Given the description of an element on the screen output the (x, y) to click on. 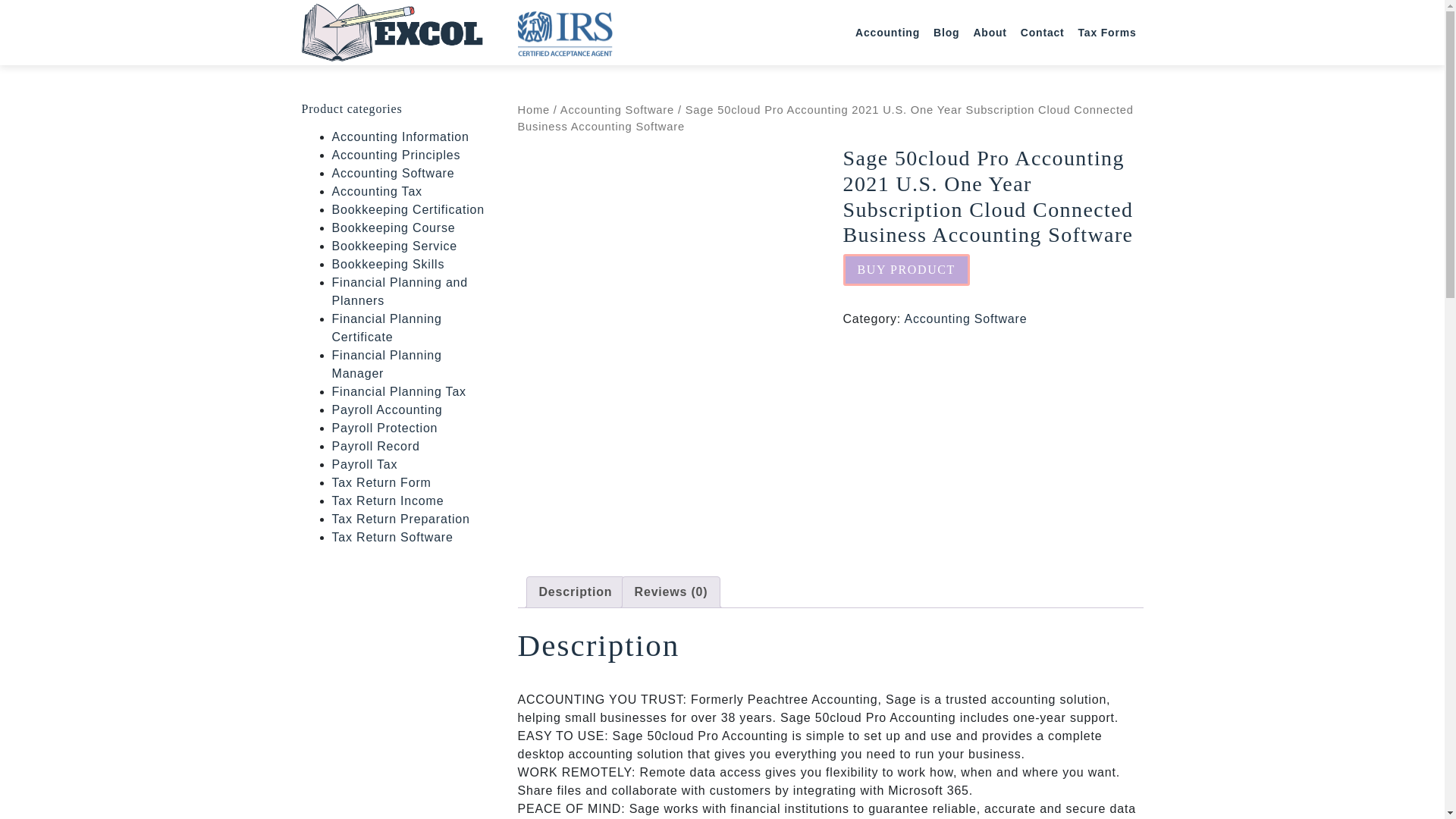
Accounting Software (392, 173)
Bookkeeping Service (394, 245)
Accounting Software (965, 318)
Payroll Record (375, 445)
BUY PRODUCT (906, 269)
Accounting Software (617, 110)
Tax Return Income (387, 500)
Tax Forms (1106, 32)
Accounting Principles (396, 154)
Tax Return Software (391, 536)
